Given the description of an element on the screen output the (x, y) to click on. 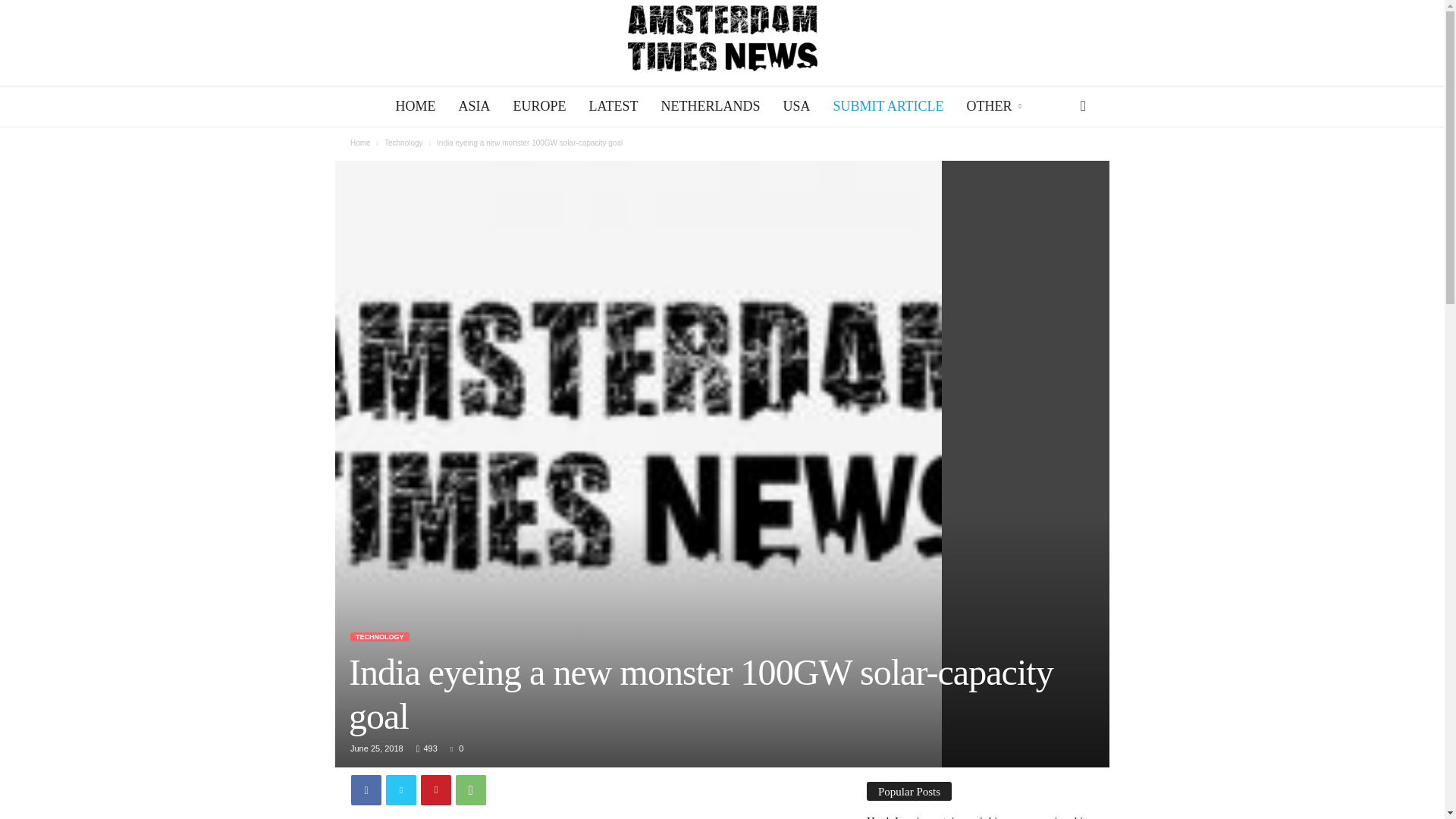
Twitter (400, 789)
HOME (415, 106)
USA (796, 106)
LATEST (612, 106)
Facebook (365, 789)
Pinterest (435, 789)
SUBMIT ARTICLE (888, 106)
ASIA (473, 106)
WhatsApp (470, 789)
EUROPE (538, 106)
NETHERLANDS (710, 106)
OTHER (995, 106)
View all posts in Technology (403, 142)
